Given the description of an element on the screen output the (x, y) to click on. 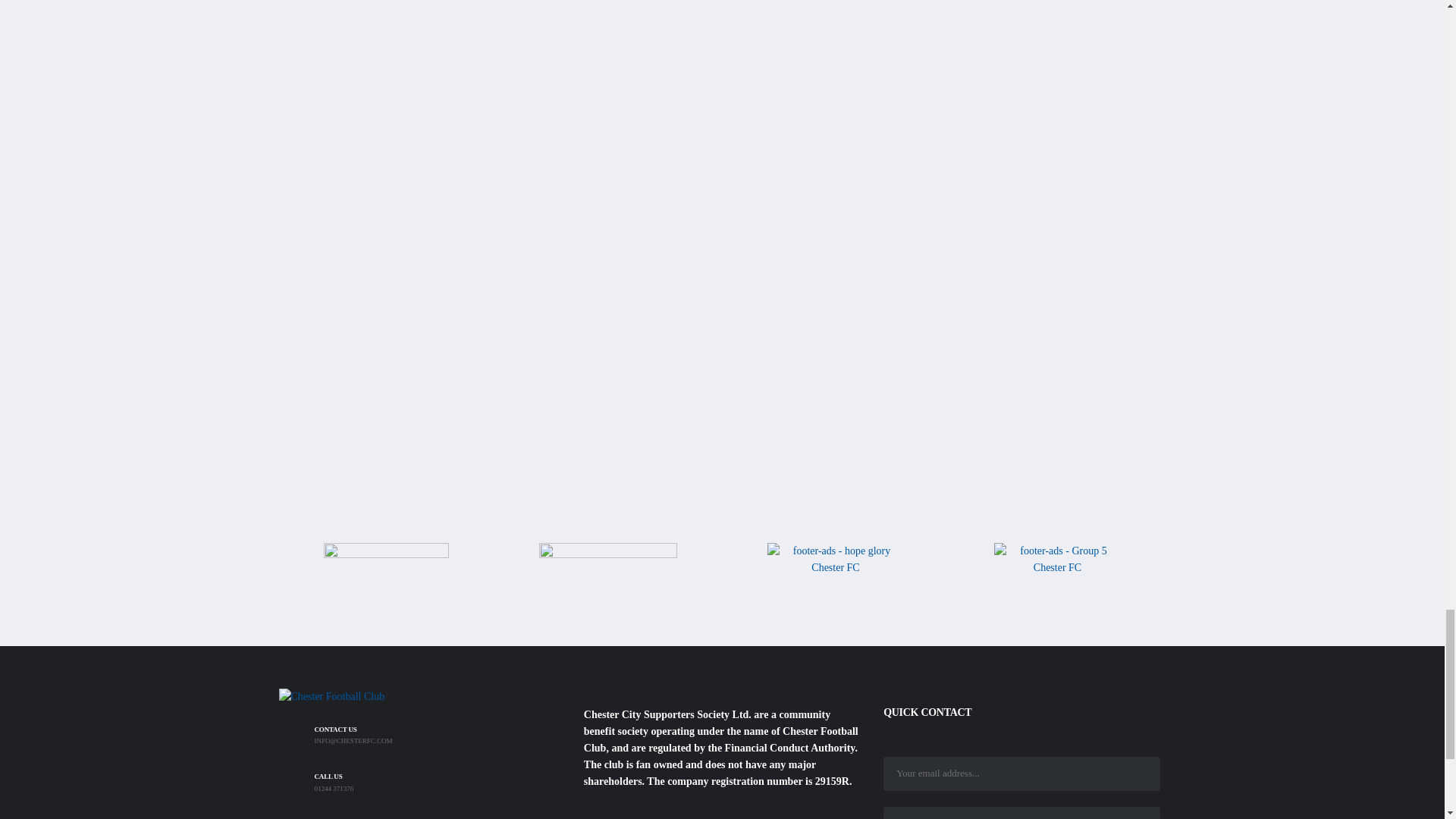
mbna-2019-1 (607, 573)
hope glory photo (835, 574)
New-Balance-80 (385, 572)
Group 5 photo (1057, 568)
UCFB Logo (722, 132)
